Given the description of an element on the screen output the (x, y) to click on. 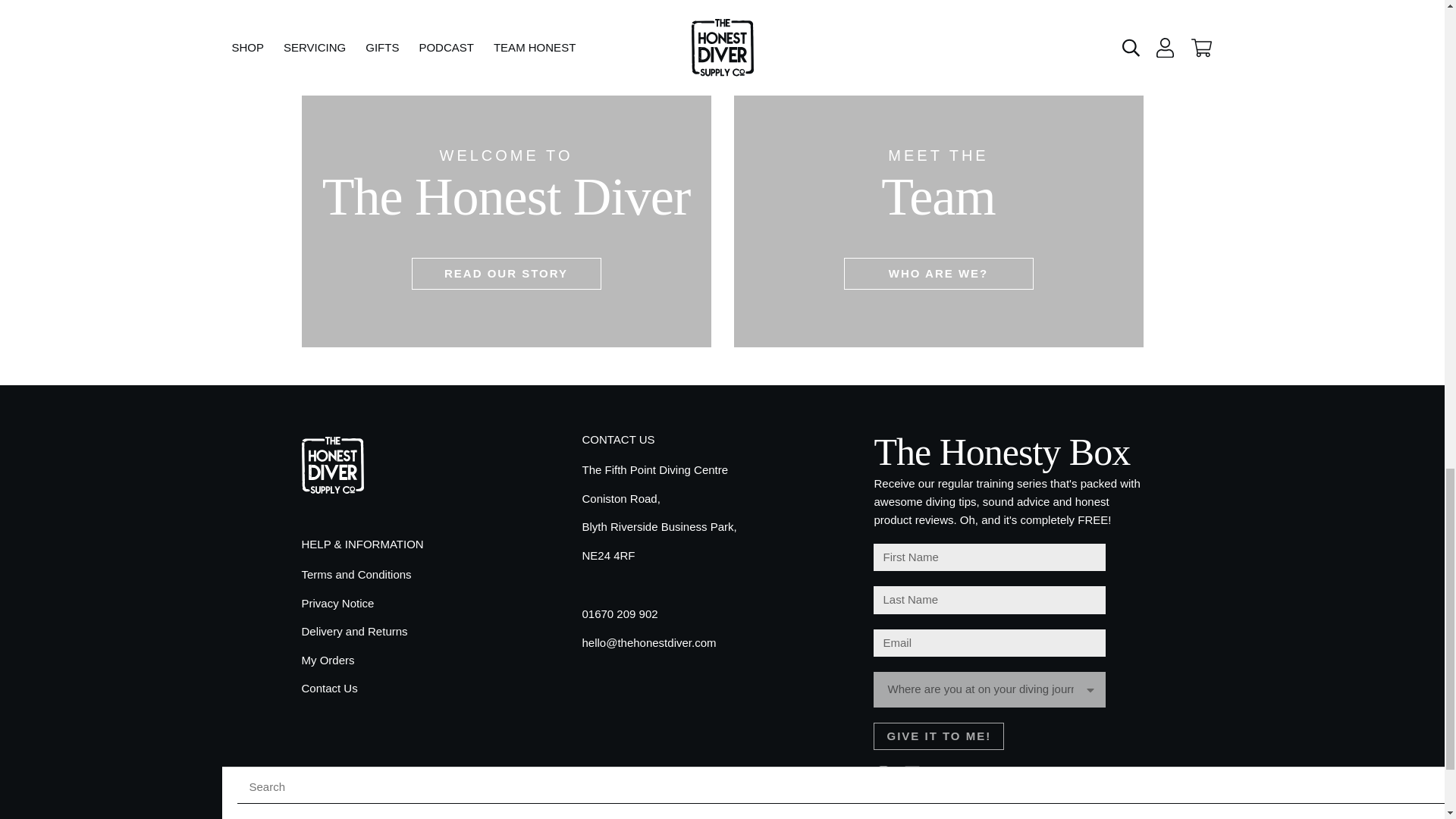
Give It to Me! (938, 736)
